Given the description of an element on the screen output the (x, y) to click on. 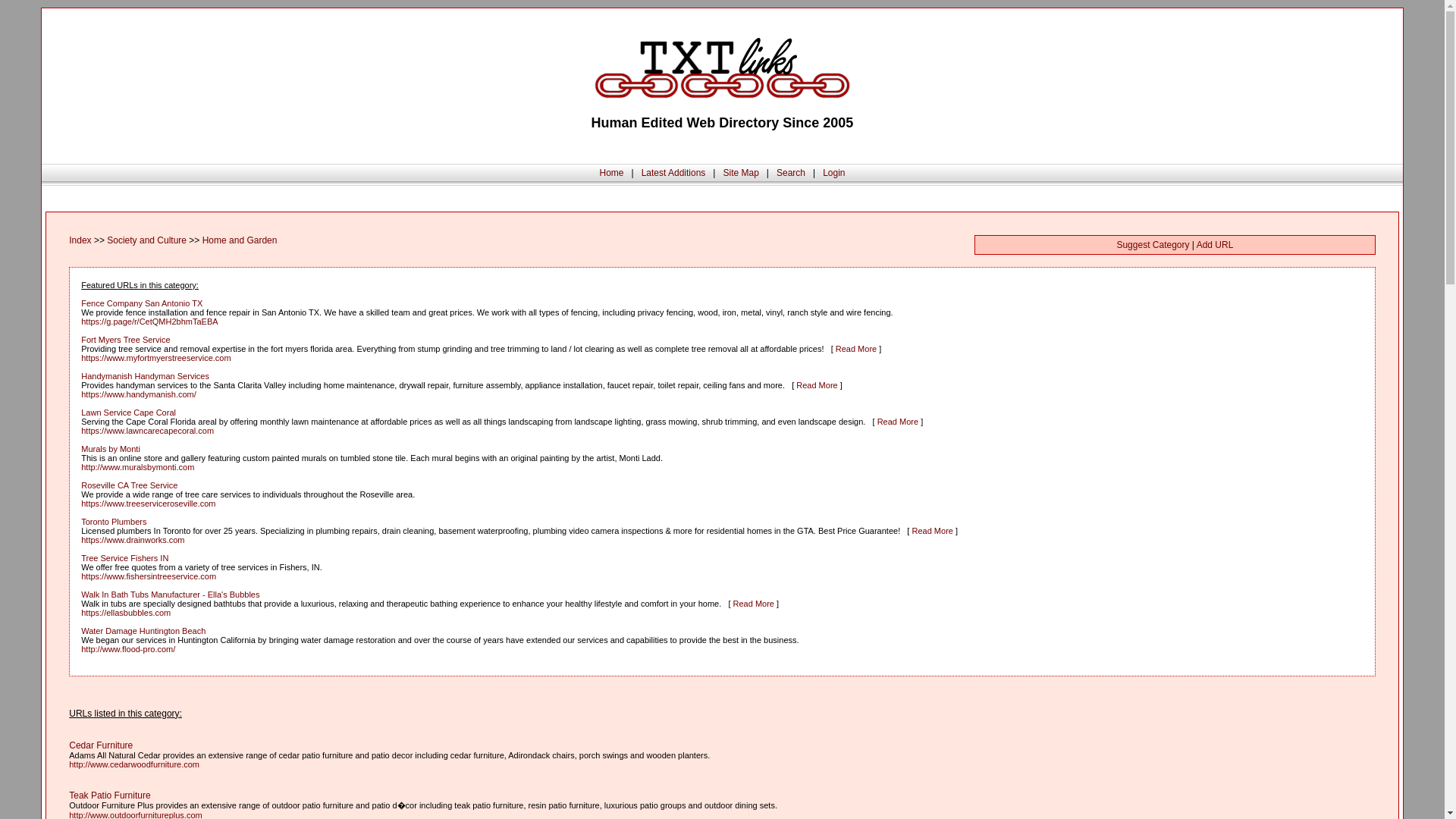
Handymanish Handyman Services (145, 375)
Toronto Plumbers (114, 521)
Murals by Monti (110, 448)
Roseville CA Tree Service (129, 484)
Fort Myers Tree Service (125, 338)
Water Damage Huntington Beach (143, 630)
Read More (816, 384)
Read More (753, 603)
Fence Company San Antonio TX (141, 302)
Read More (897, 420)
Tree Service Fishers IN (124, 557)
Cedar Furniture (100, 745)
Latest Additions (674, 172)
Home and Garden (240, 240)
Walk In Bath Tubs Manufacturer - Ella's Bubbles (170, 593)
